Given the description of an element on the screen output the (x, y) to click on. 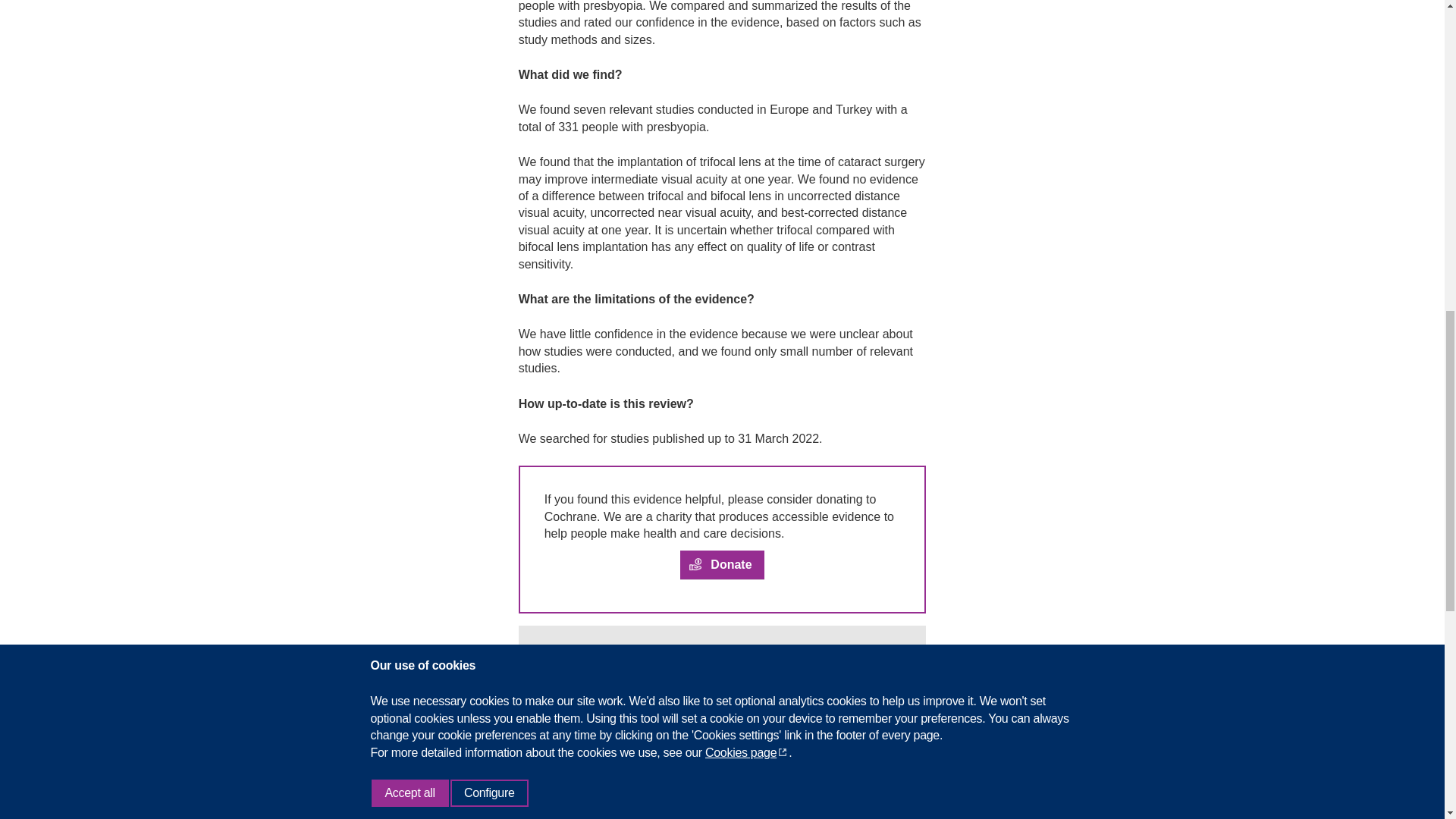
Donate (720, 564)
